Given the description of an element on the screen output the (x, y) to click on. 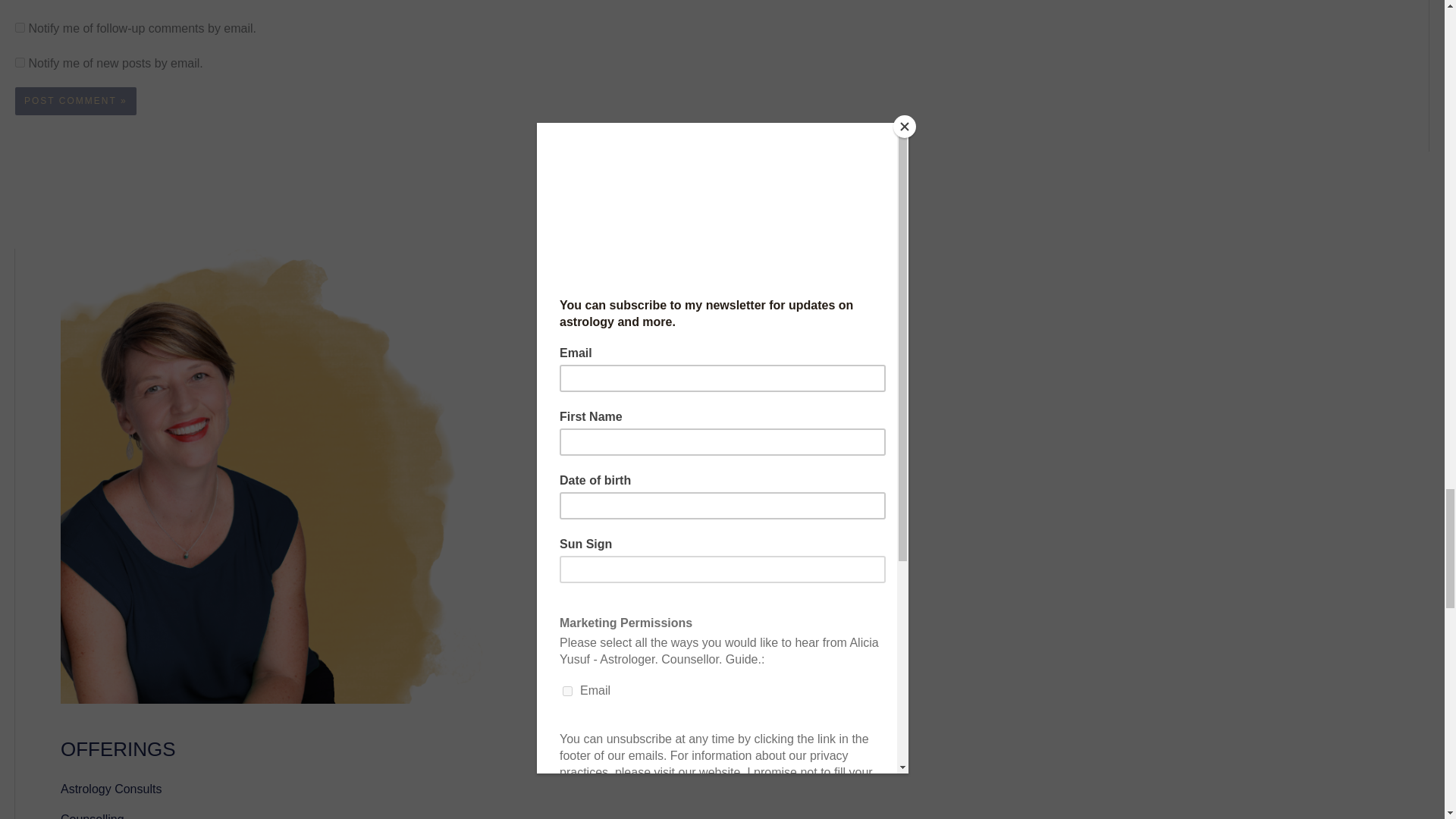
subscribe (19, 62)
subscribe (19, 27)
